Given the description of an element on the screen output the (x, y) to click on. 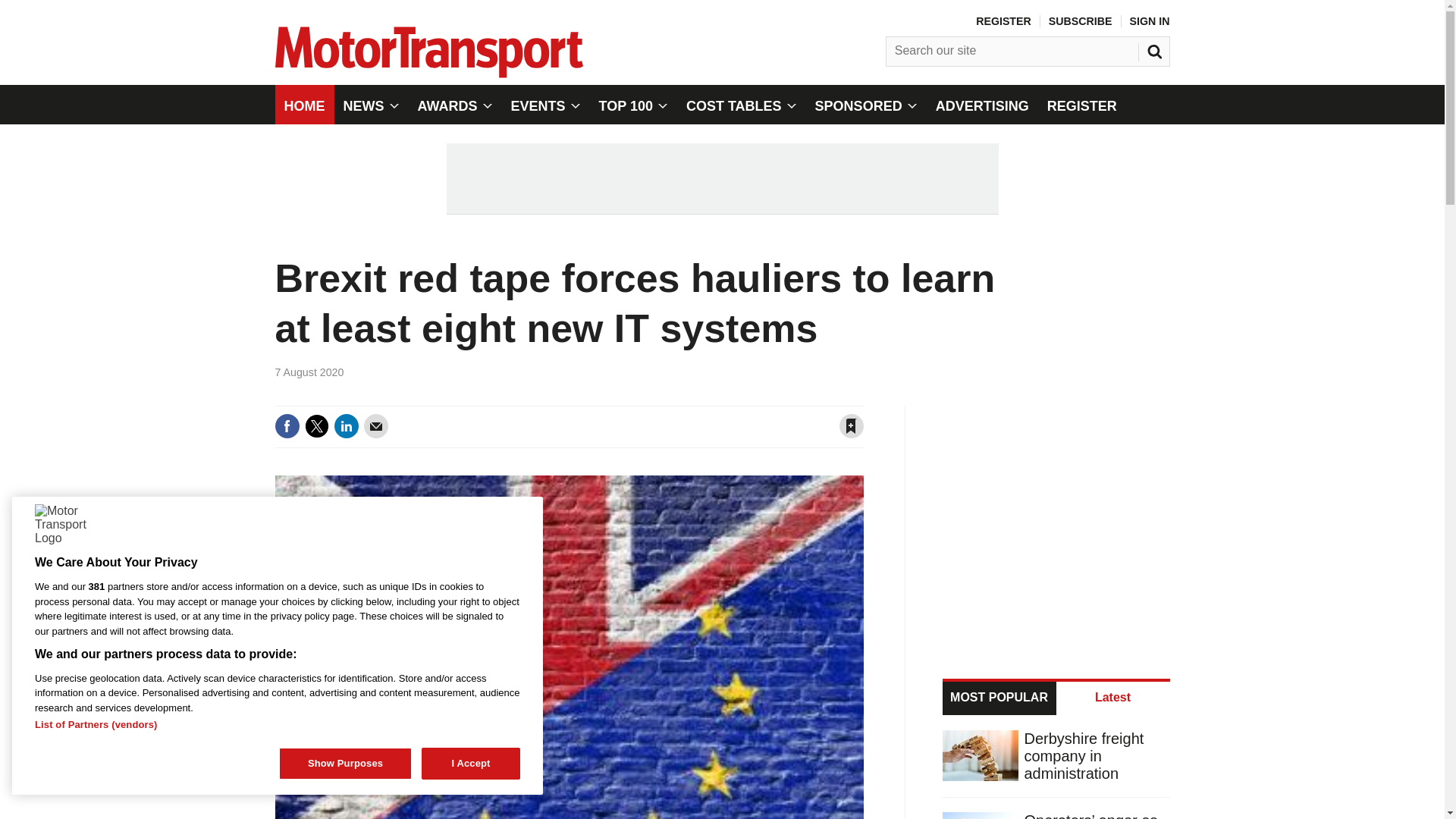
Share this on Linked in (345, 426)
SUBSCRIBE (1080, 21)
REGISTER (1002, 21)
Site name (428, 73)
3rd party ad content (1056, 524)
Motor Transport Logo (58, 528)
SIGN IN (1149, 21)
Share this on Twitter (316, 426)
3rd party ad content (721, 178)
Share this on Facebook (286, 426)
SEARCH (1156, 48)
Email this article (376, 426)
